Given the description of an element on the screen output the (x, y) to click on. 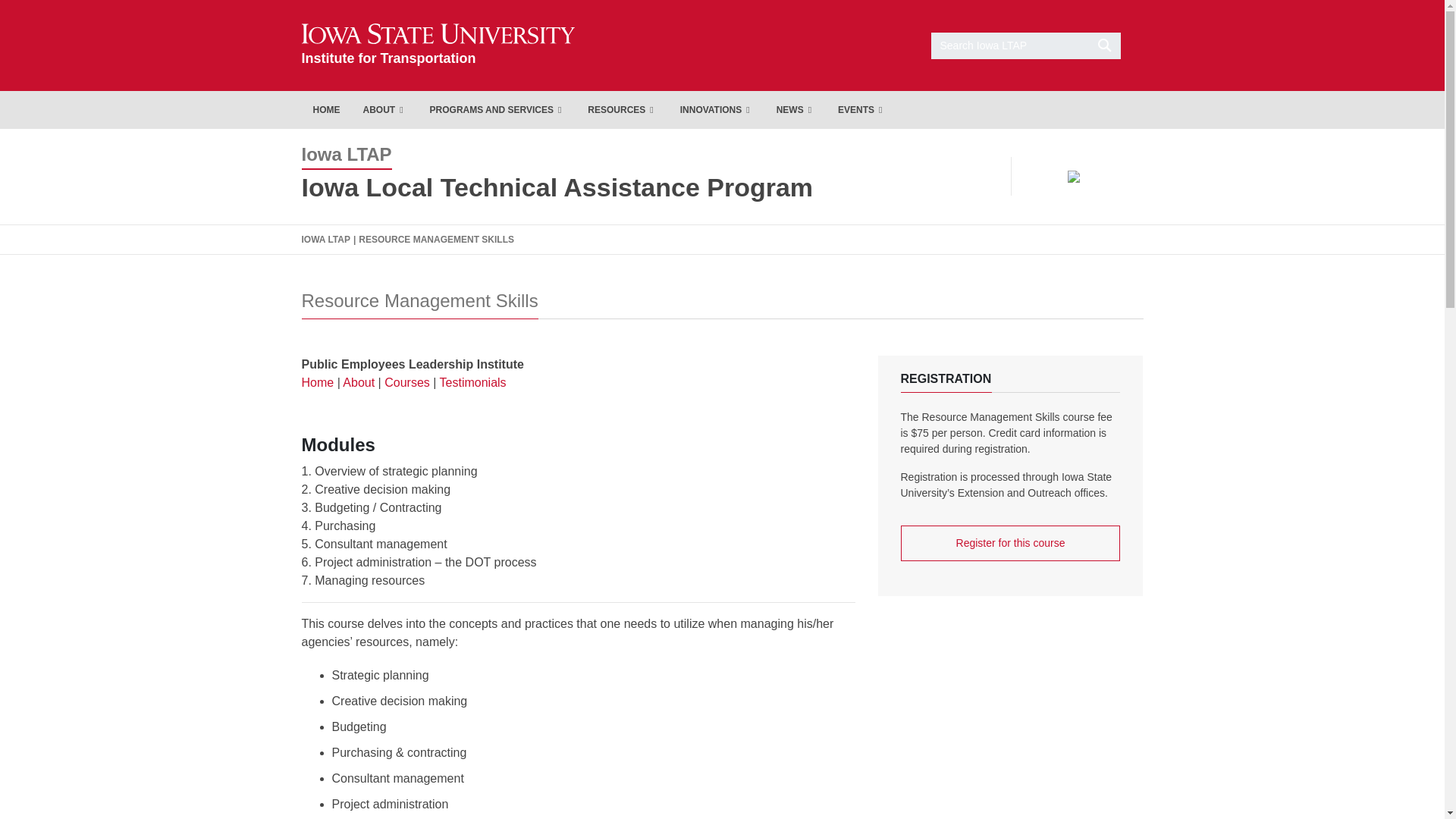
PROGRAMS AND SERVICES (497, 109)
ABOUT (438, 44)
HOME (385, 109)
Home (326, 109)
INNOVATIONS (438, 44)
Search (716, 109)
RESOURCES (1026, 44)
Search (622, 109)
